Given the description of an element on the screen output the (x, y) to click on. 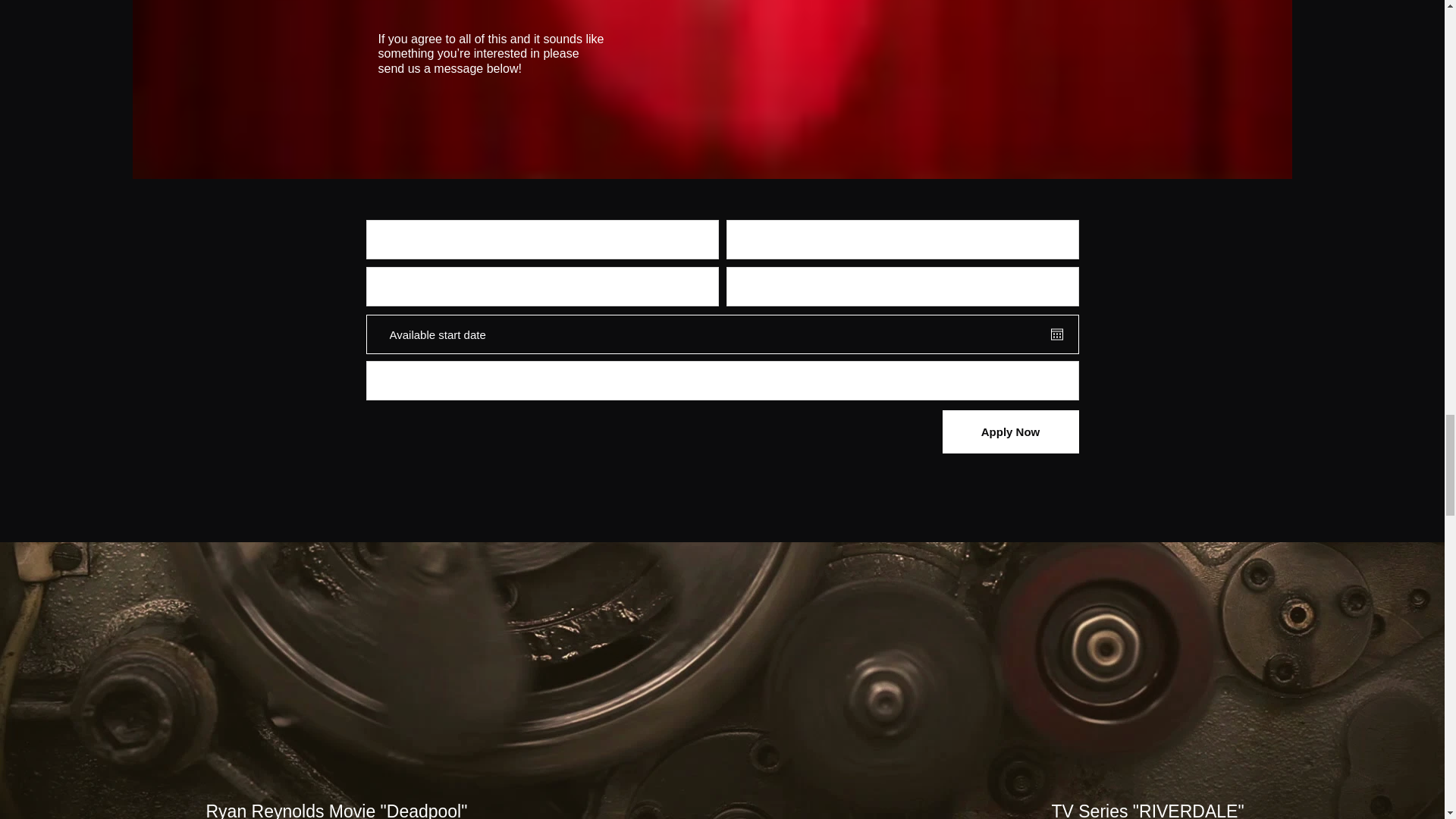
Apply Now (1010, 431)
